Given the description of an element on the screen output the (x, y) to click on. 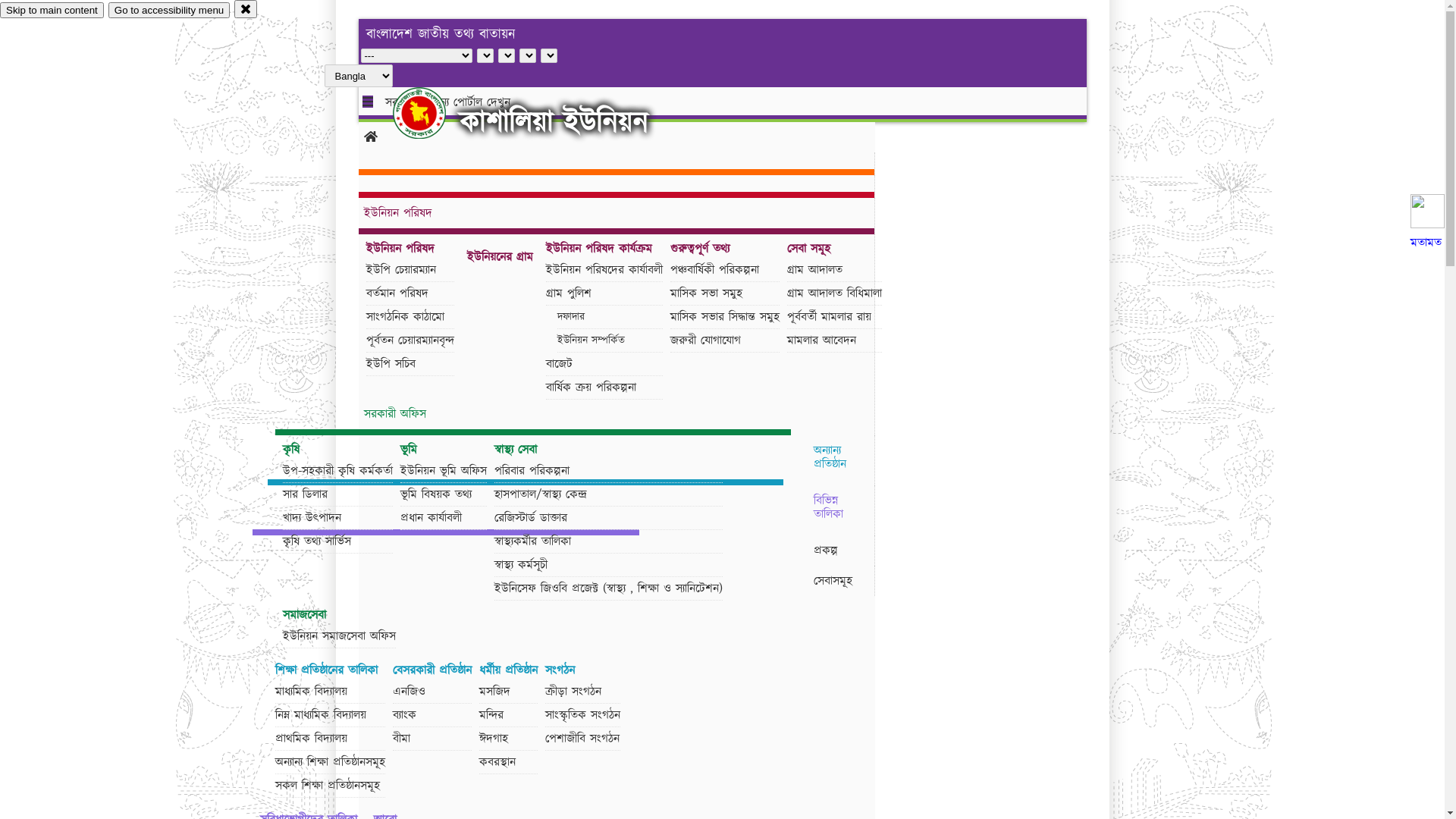

                
             Element type: hover (431, 112)
close Element type: hover (245, 9)
Go to accessibility menu Element type: text (168, 10)
Skip to main content Element type: text (51, 10)
